Given the description of an element on the screen output the (x, y) to click on. 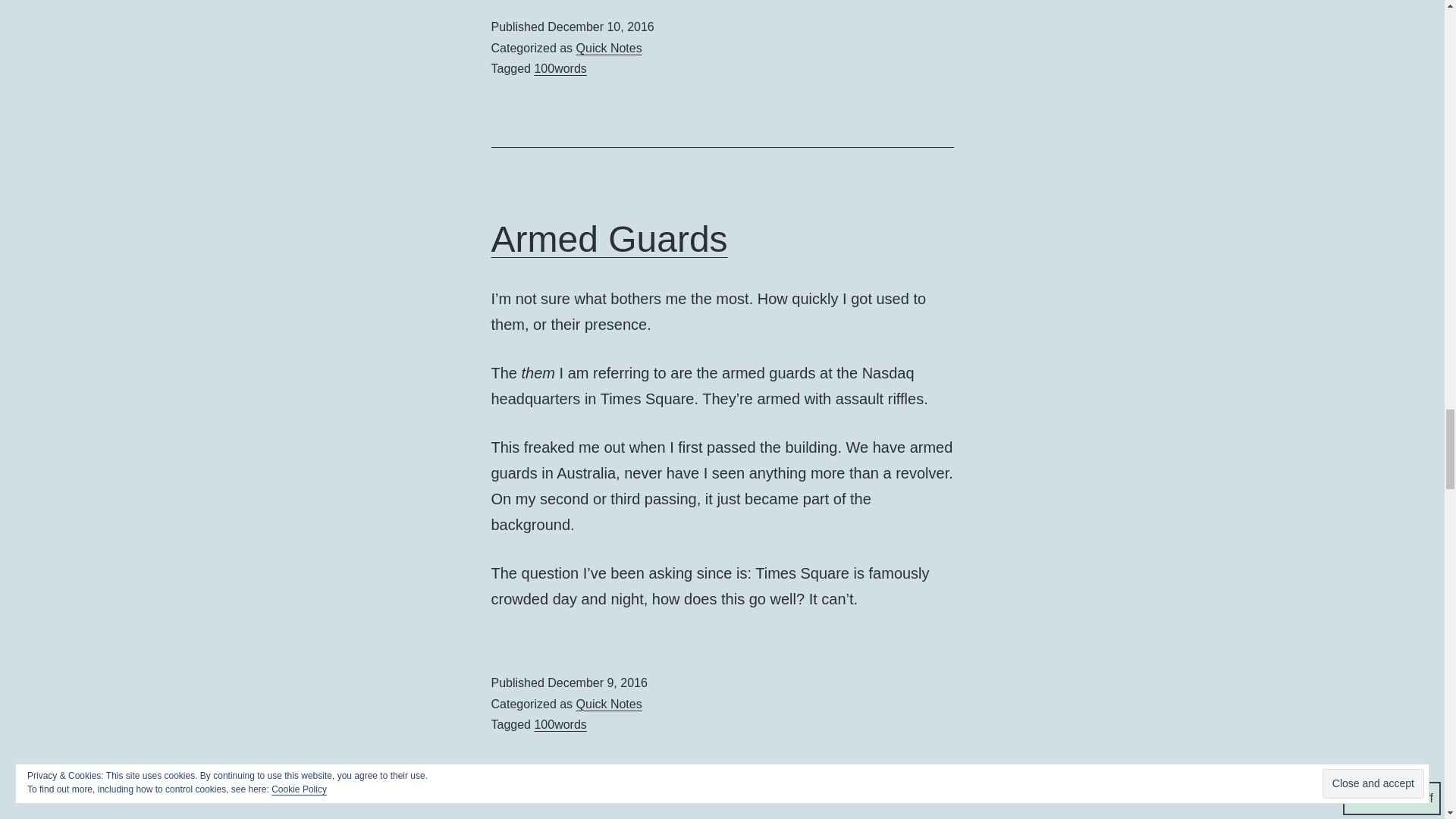
Quick Notes (609, 47)
